Given the description of an element on the screen output the (x, y) to click on. 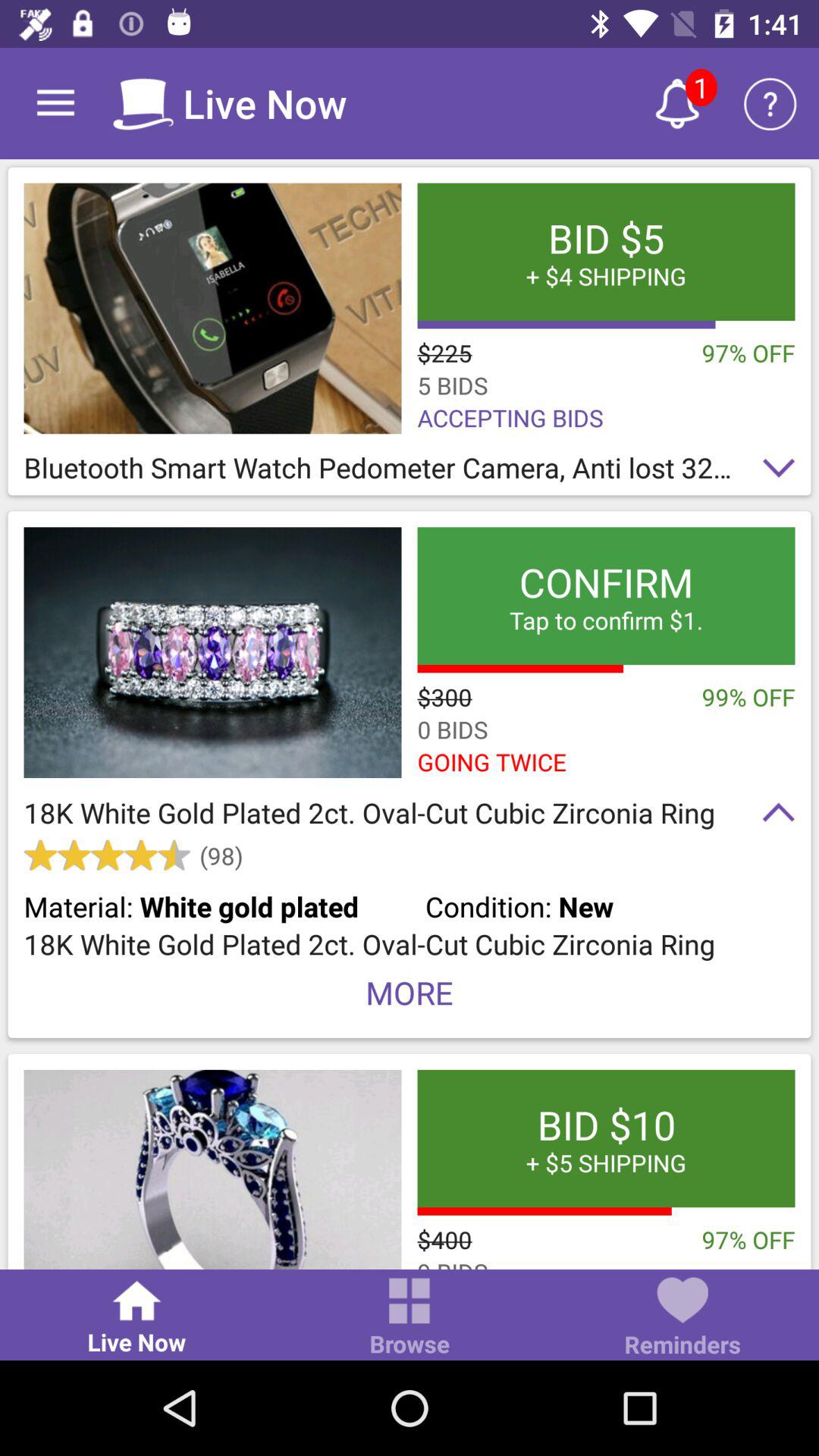
swipe to confirm tap to icon (606, 595)
